Given the description of an element on the screen output the (x, y) to click on. 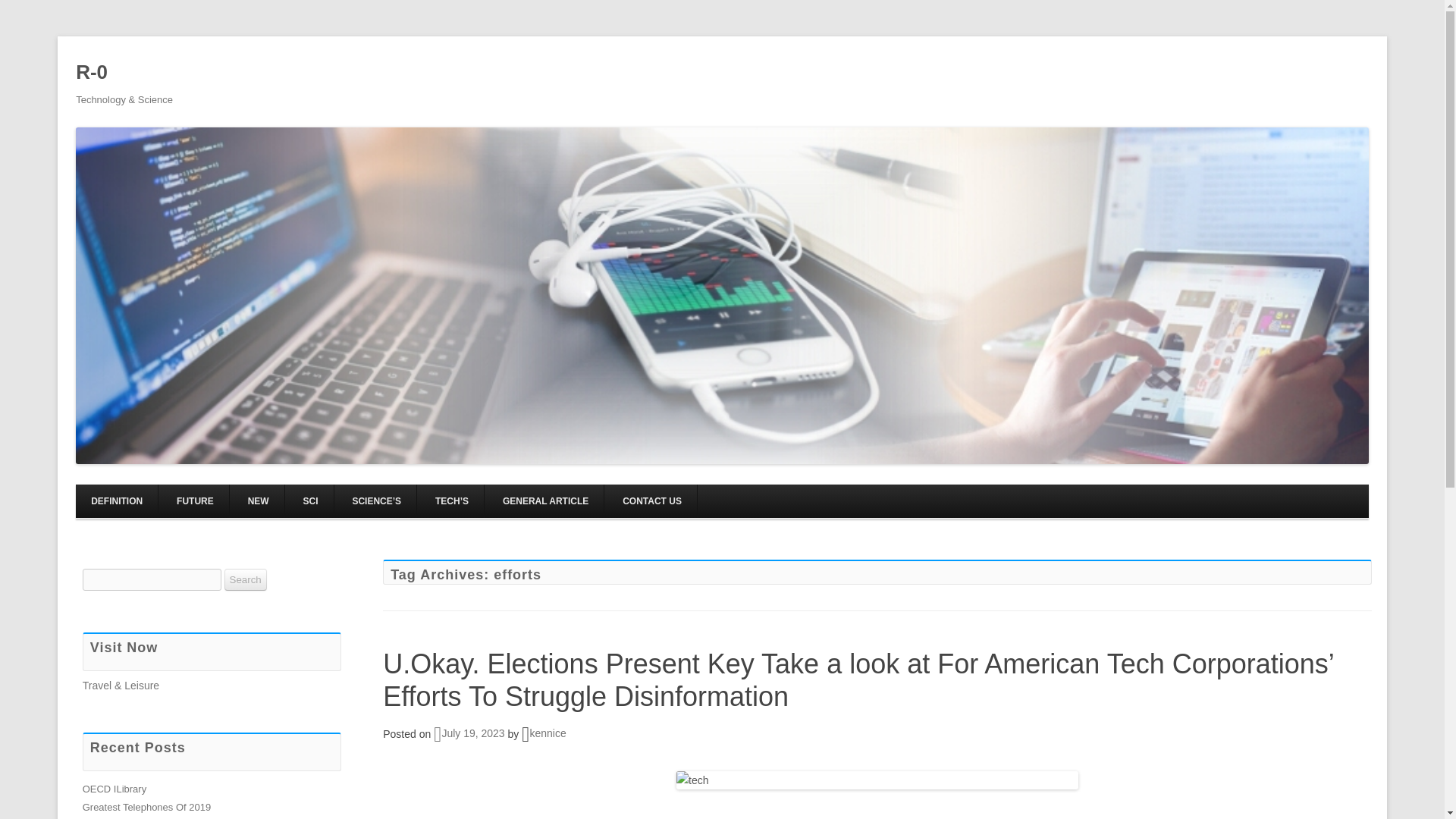
GENERAL ARTICLE (545, 500)
Skip to content (757, 489)
View all posts by kennice (547, 733)
OECD ILibrary (114, 788)
Skip to content (757, 489)
7:08 pm (469, 733)
SCI (310, 500)
FUTURE (194, 500)
NEW (257, 500)
kennice (547, 733)
Greatest Telephones Of 2019 (146, 807)
Search (245, 579)
Search (245, 579)
R-0 (91, 72)
CONTACT US (652, 500)
